Given the description of an element on the screen output the (x, y) to click on. 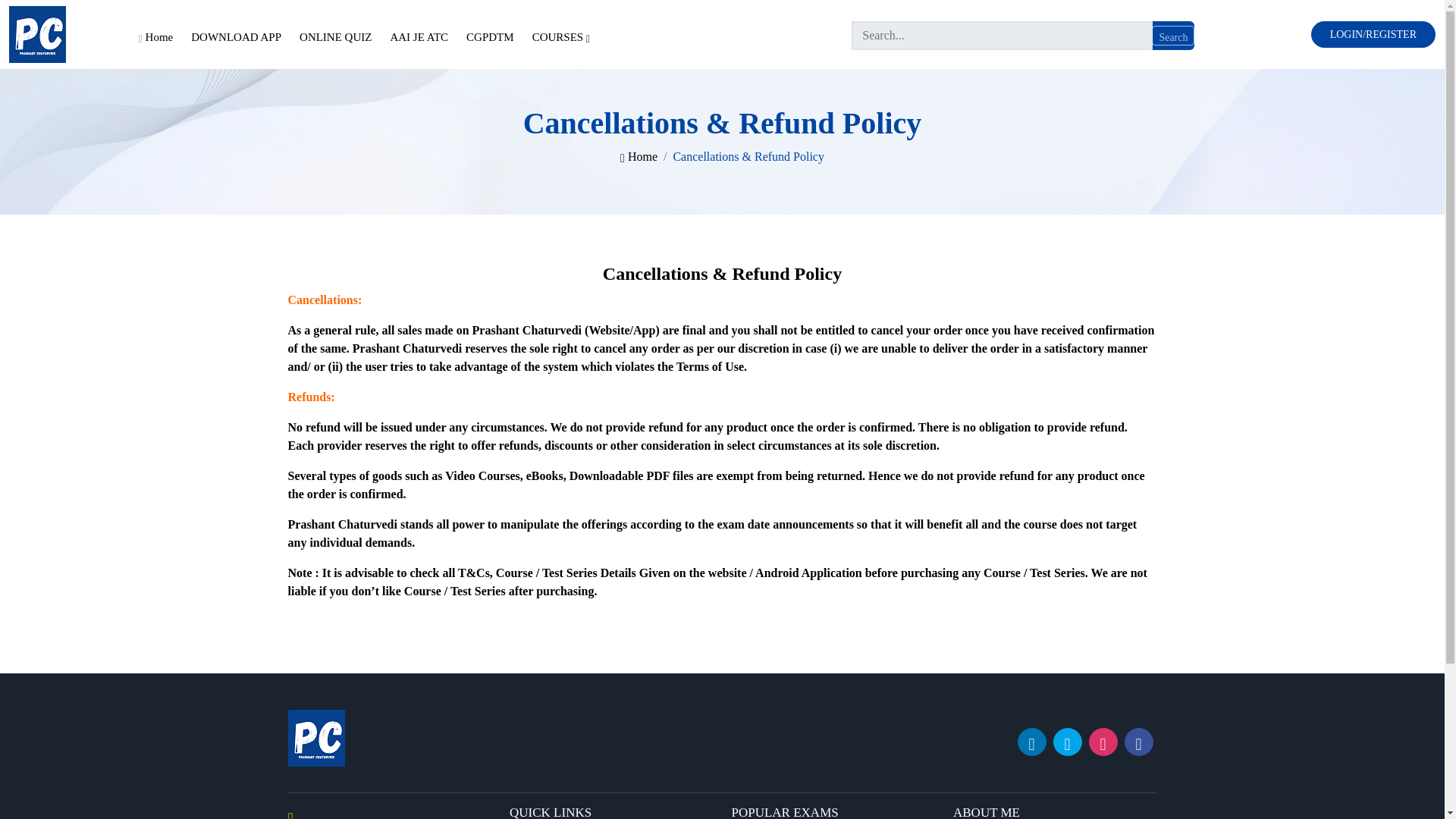
Search (1172, 35)
AAI JE ATC (418, 37)
Search (1172, 35)
DOWNLOAD APP (235, 37)
Home (639, 155)
CGPDTM (489, 37)
ONLINE QUIZ (334, 37)
Home (156, 37)
Search (1172, 35)
COURSES (560, 37)
